Given the description of an element on the screen output the (x, y) to click on. 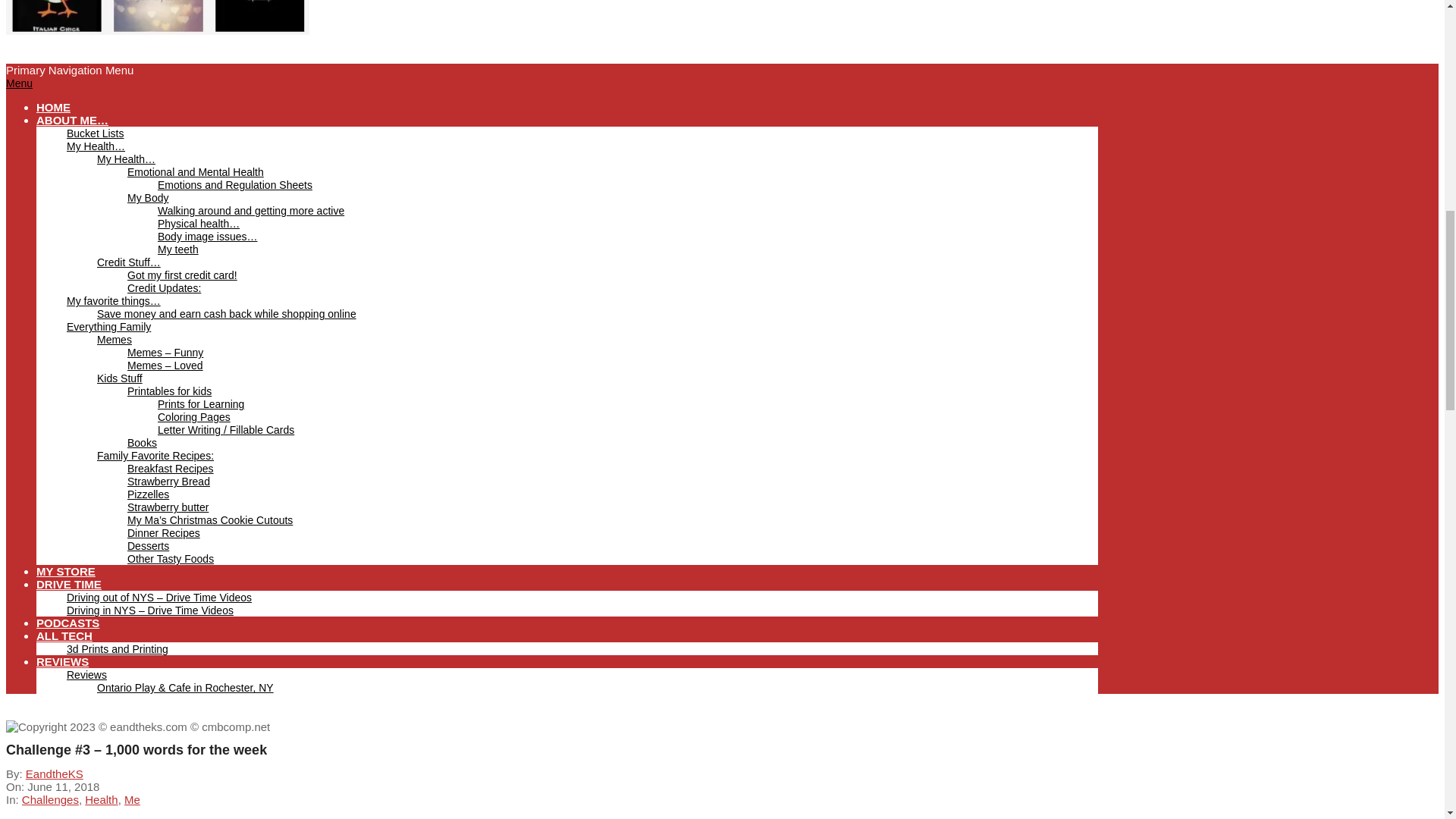
Posts by EandtheKS (54, 773)
Monday, June 11, 2018, 6:02 am (63, 786)
